Given the description of an element on the screen output the (x, y) to click on. 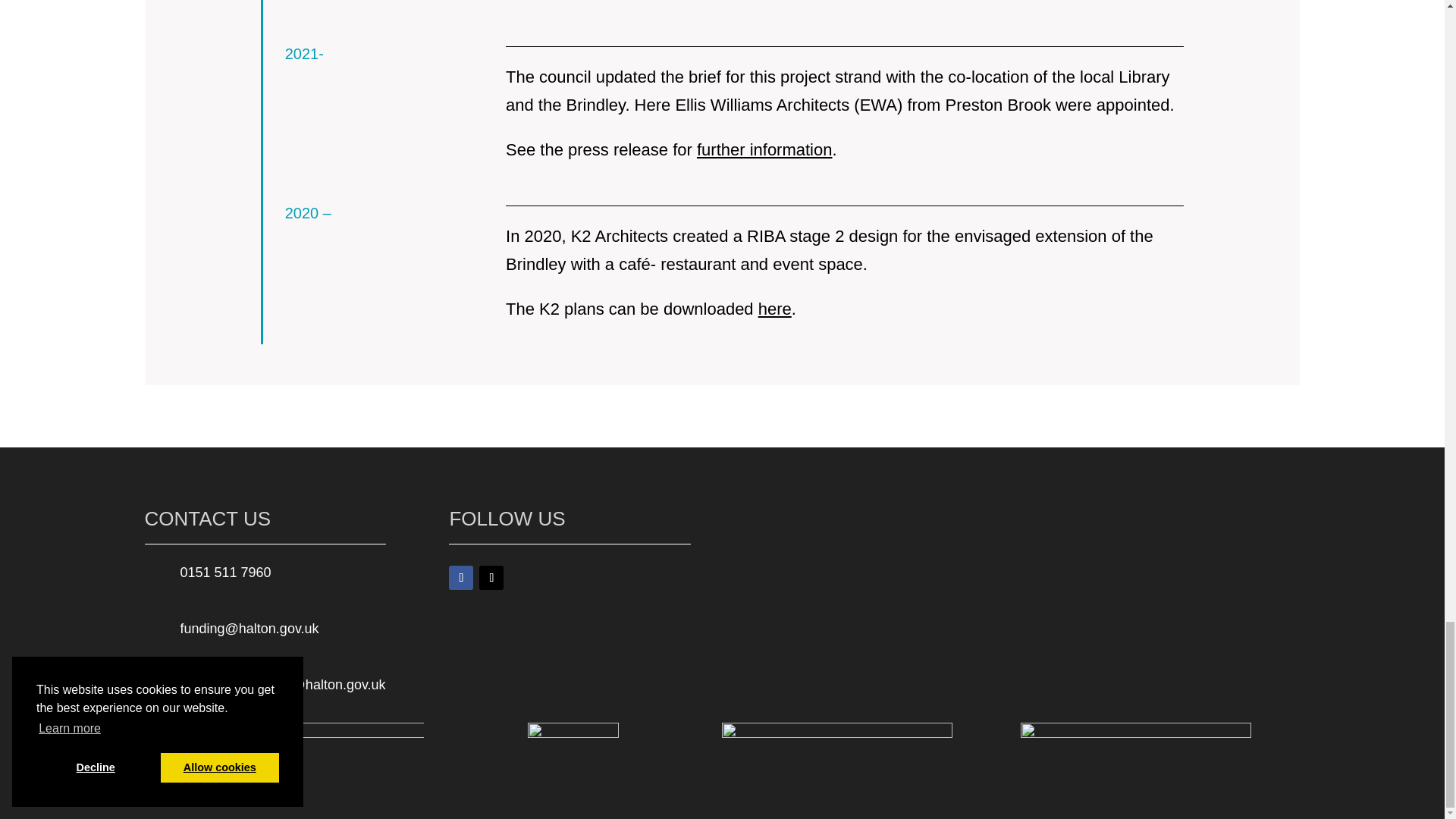
further information (764, 149)
Follow on Facebook (460, 577)
0151 511 7960 (225, 572)
logo-levelling-up (837, 760)
logo-halton-council (572, 760)
logo-government-funded-5 (1135, 760)
RECONN1 (274, 754)
Follow on X (491, 577)
here (775, 308)
